Given the description of an element on the screen output the (x, y) to click on. 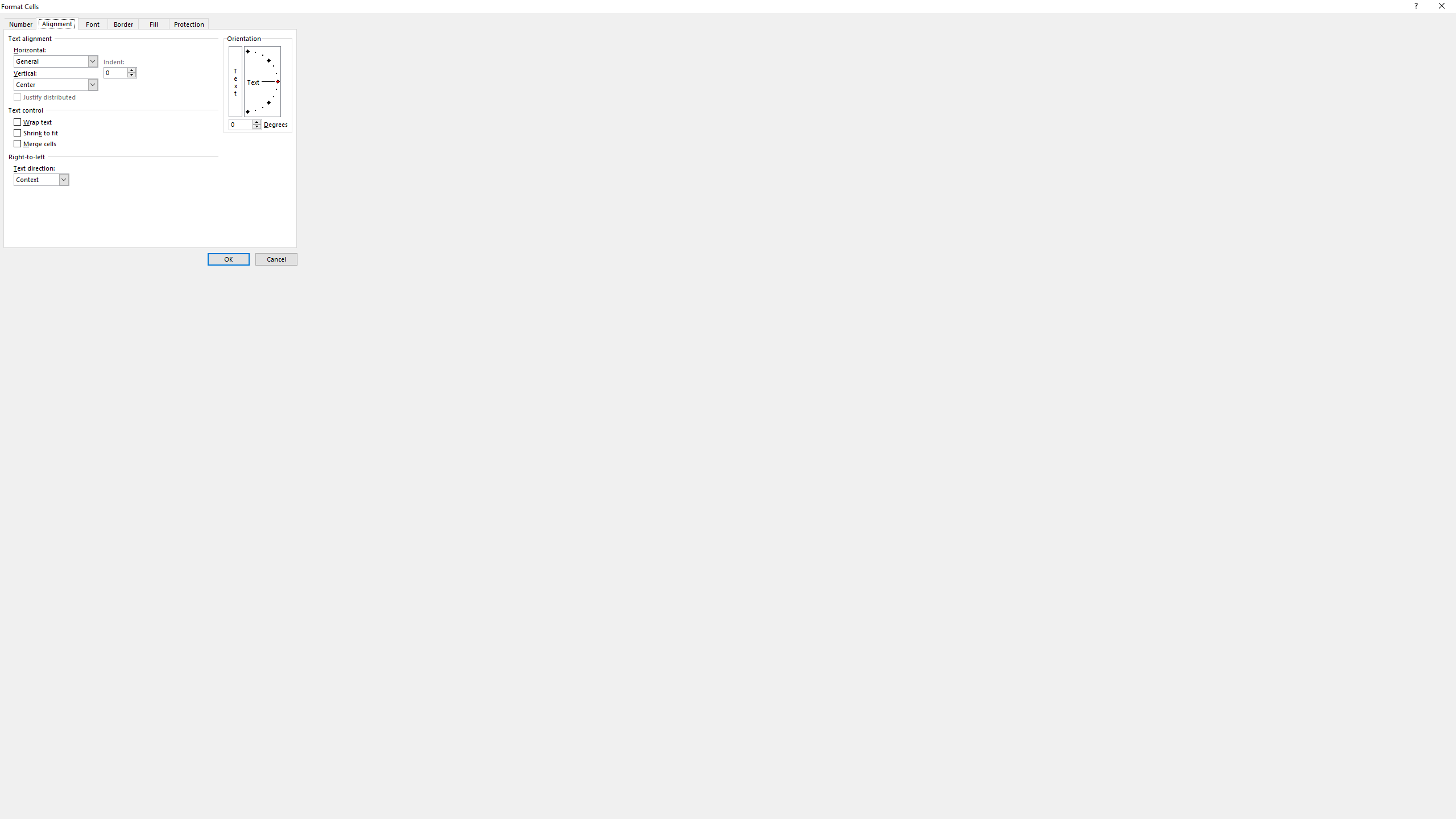
Number (19, 23)
Fill (153, 23)
Shrink to fit (36, 132)
Alignment (56, 23)
Justify distributed (45, 96)
Merge cells (35, 143)
Orientation (262, 81)
Indent: (119, 72)
Horizontal: (56, 60)
Vertical: (56, 84)
Protection (188, 23)
Wrap text (33, 121)
Context help (1415, 8)
OK (228, 259)
